Given the description of an element on the screen output the (x, y) to click on. 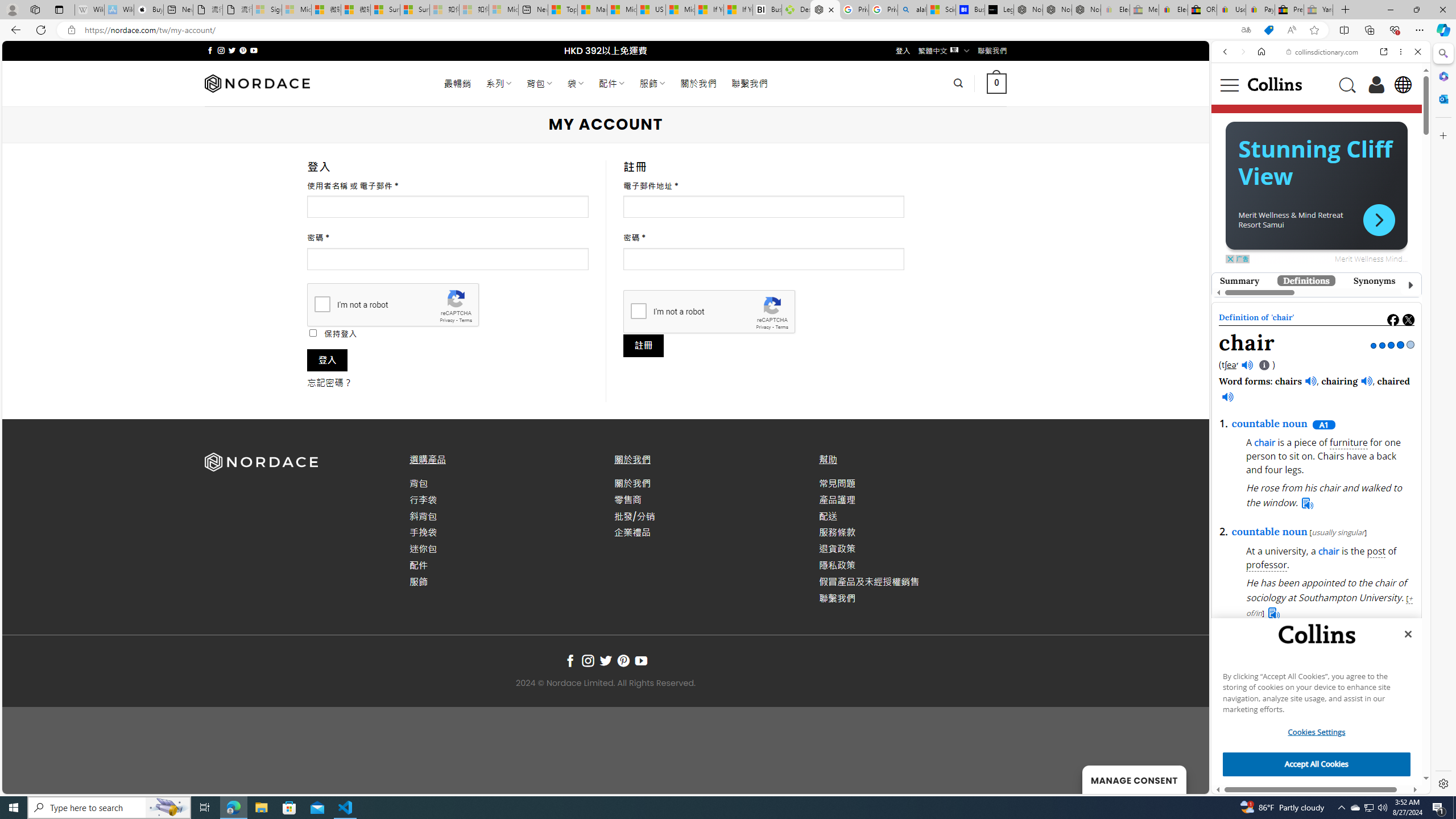
Press Room - eBay Inc. (1288, 9)
Go to the homepage (1274, 83)
Buy iPad - Apple (148, 9)
Definitions (1305, 280)
  0   (995, 83)
[+ of] (1387, 751)
